Given the description of an element on the screen output the (x, y) to click on. 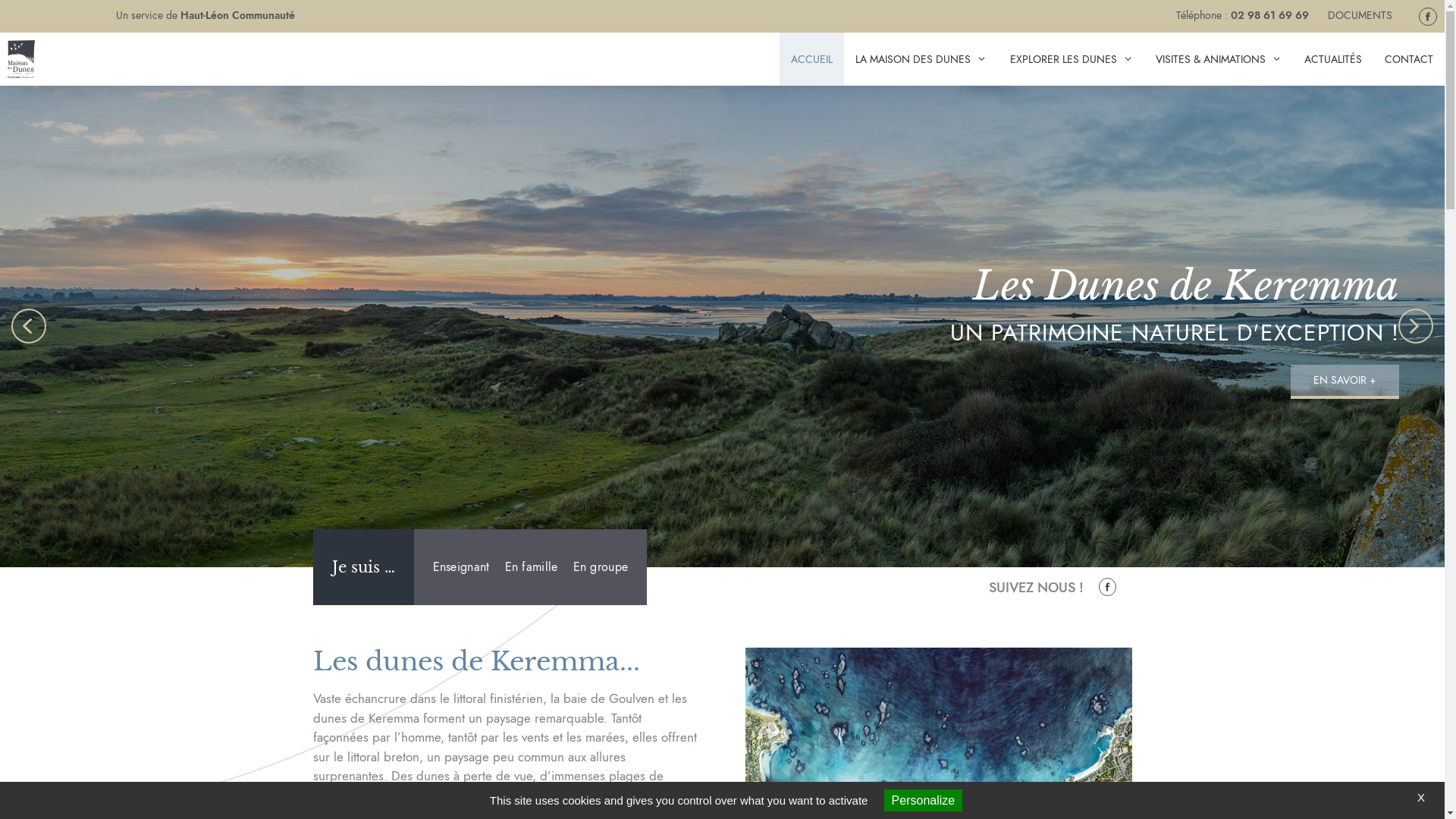
CONTACT Element type: text (1408, 58)
Enseignant Element type: text (455, 567)
02 98 61 69 69 Element type: text (1269, 14)
En famille Element type: text (531, 567)
Maison Des Dunes Element type: hover (21, 58)
VISITES & ANIMATIONS Element type: text (1218, 58)
Personalize Element type: text (923, 800)
ACCUEIL Element type: text (811, 58)
En groupe Element type: text (606, 567)
DOCUMENTS Element type: text (1359, 14)
LA MAISON DES DUNES Element type: text (920, 58)
EXPLORER LES DUNES Element type: text (1071, 58)
EN SAVOIR + Element type: text (1344, 379)
